Given the description of an element on the screen output the (x, y) to click on. 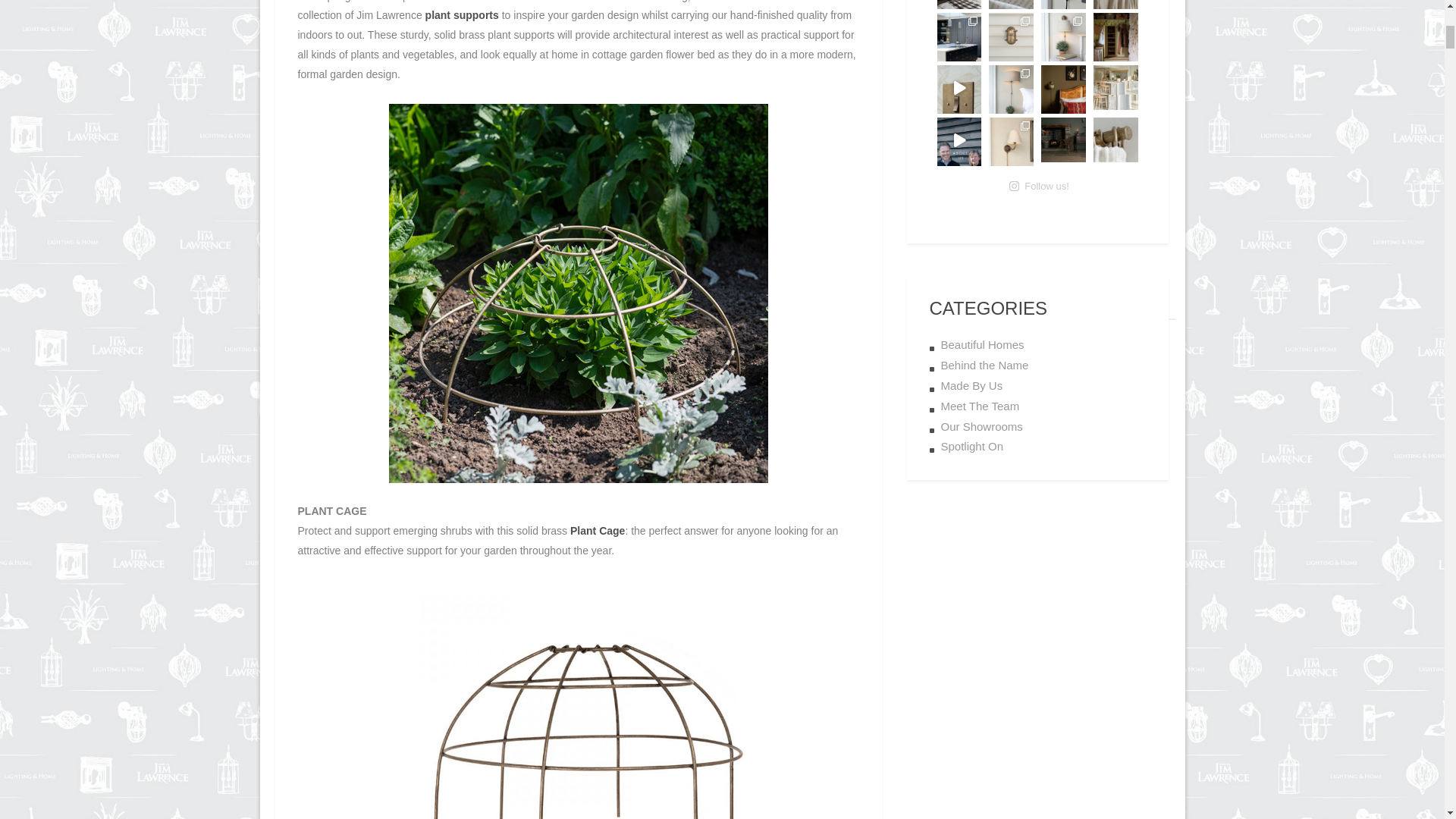
Plant Cage (597, 530)
plant supports (462, 15)
